Given the description of an element on the screen output the (x, y) to click on. 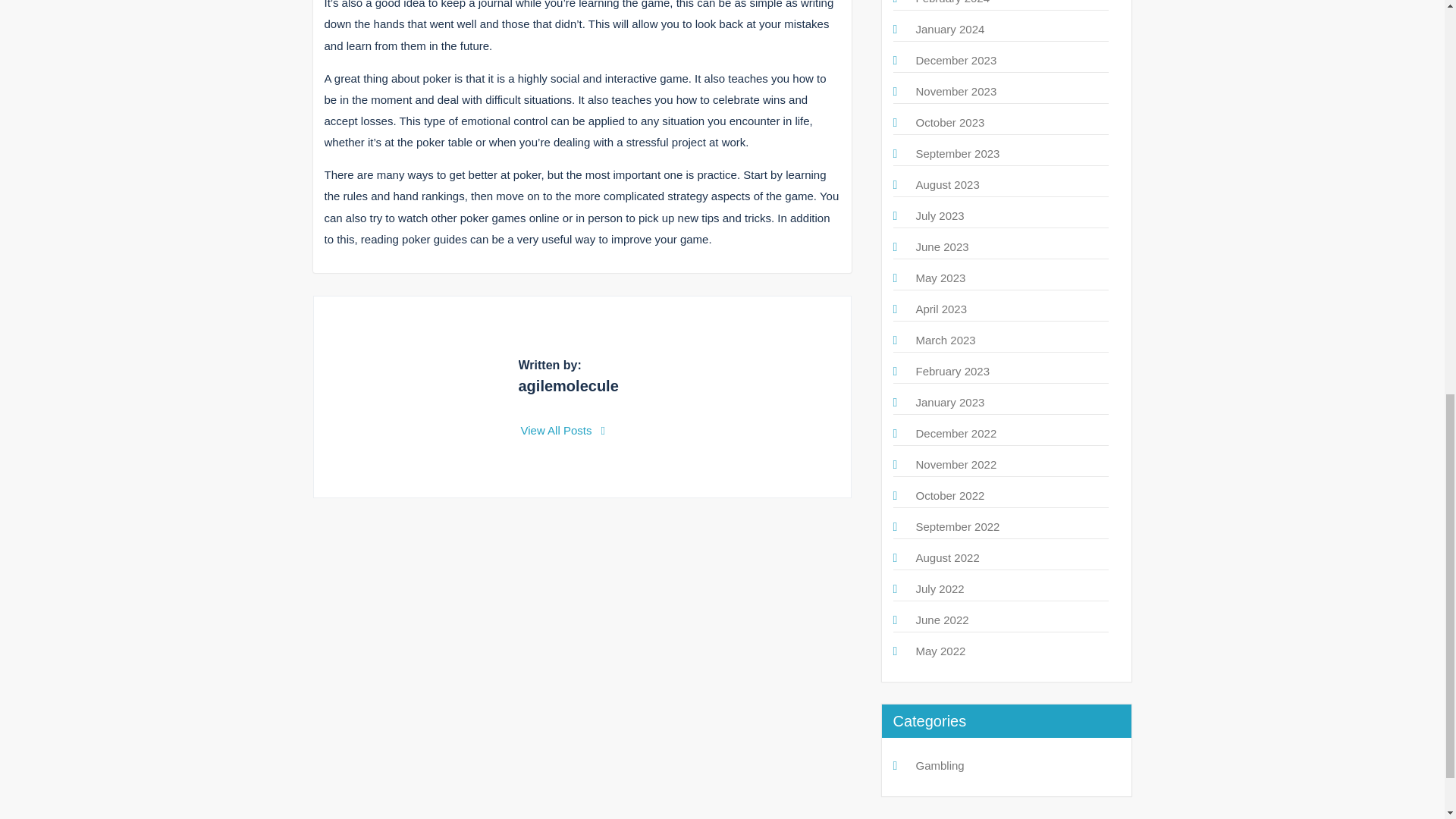
December 2022 (956, 432)
August 2022 (947, 557)
February 2024 (952, 2)
September 2022 (957, 526)
November 2022 (956, 463)
Gambling (939, 765)
June 2022 (942, 619)
January 2023 (950, 401)
June 2023 (942, 246)
July 2022 (939, 588)
